Given the description of an element on the screen output the (x, y) to click on. 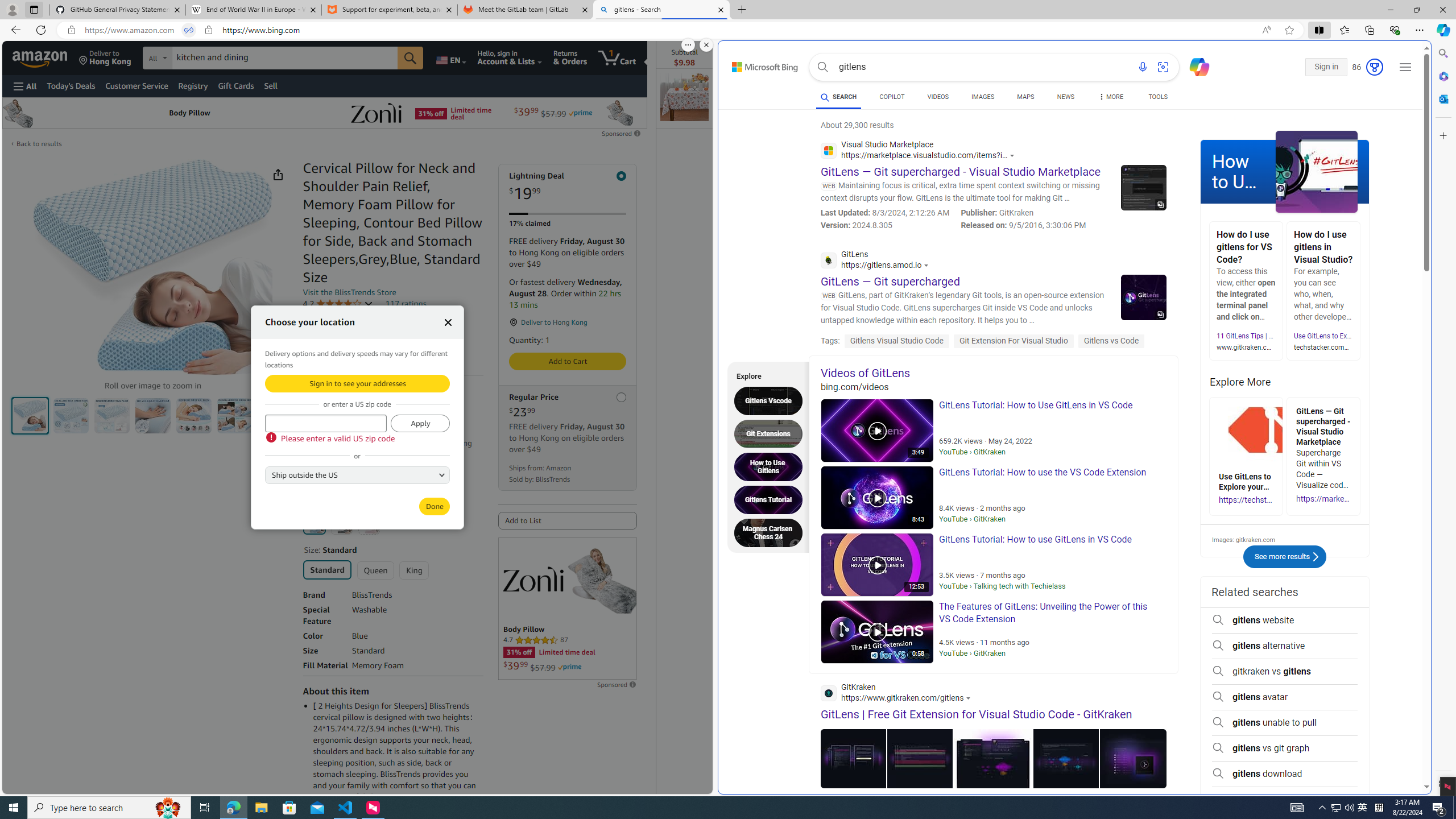
Chat (1195, 65)
Details  (341, 454)
Customer Service (136, 85)
Last Updated: 8/3/2024, 2:12:26 AM (885, 213)
Magnus Carlsen Chess 24 (771, 532)
